Given the description of an element on the screen output the (x, y) to click on. 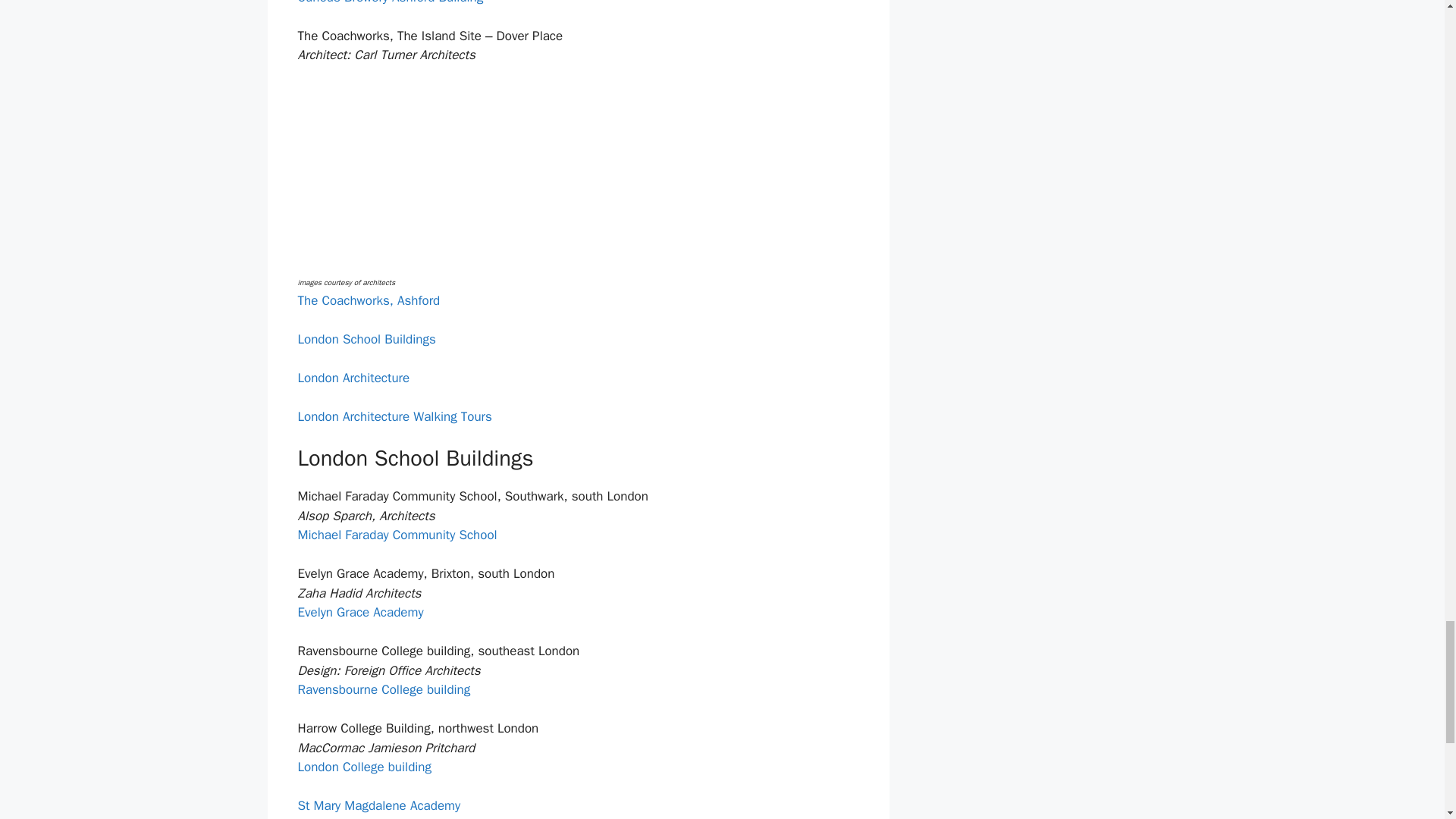
London Architecture (353, 377)
Curious Brewery Ashford Building (390, 2)
Michael Faraday Community School (396, 534)
London Architecture Walking Tours (394, 416)
London School Buildings (366, 339)
The Coachworks, Ashford (368, 300)
